Given the description of an element on the screen output the (x, y) to click on. 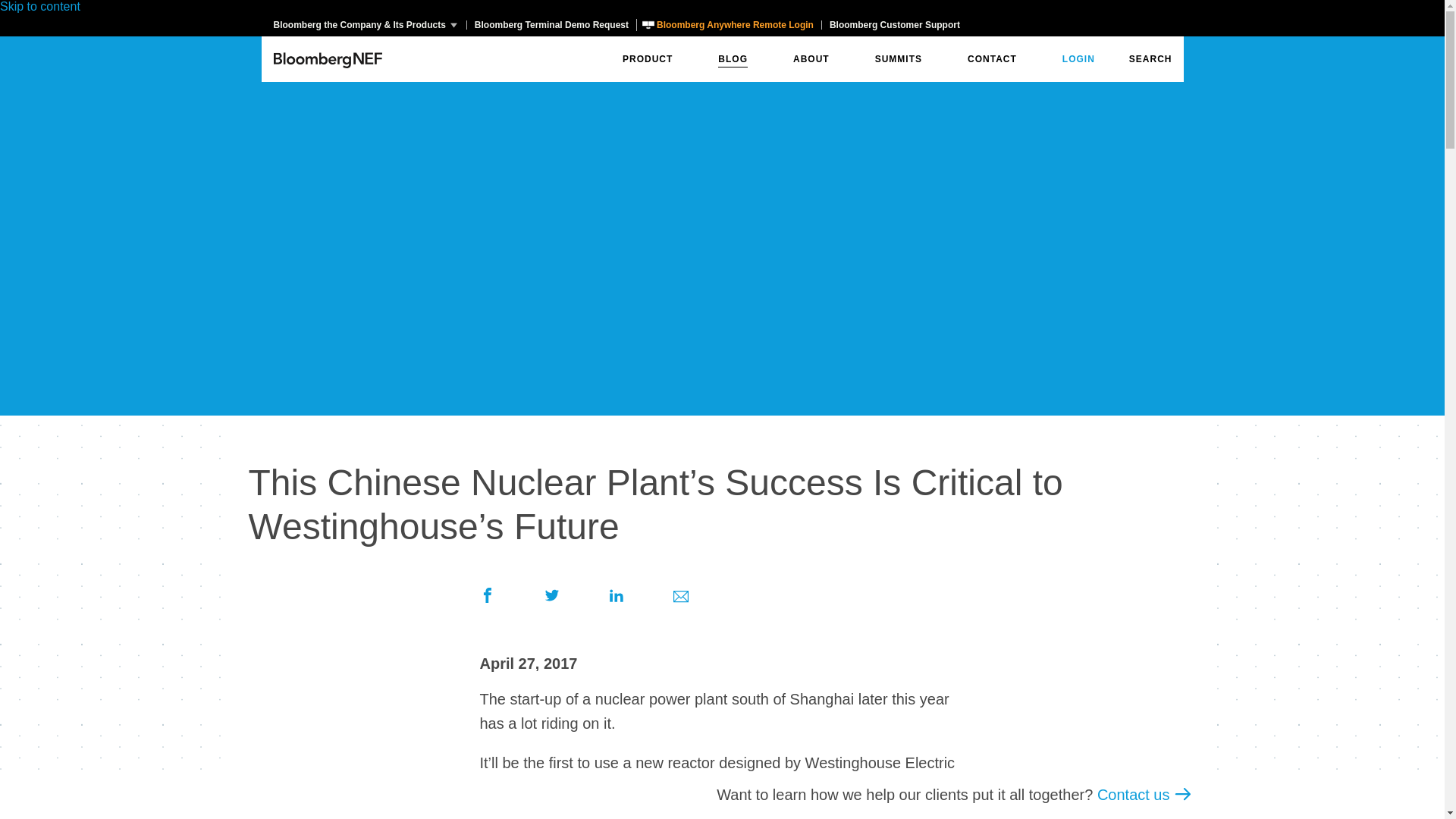
Skip to content (40, 6)
Bloomberg Customer Support (894, 24)
Bloomberg Terminal Demo Request (550, 24)
Bloomberg Anywhere Remote Login (728, 24)
